Given the description of an element on the screen output the (x, y) to click on. 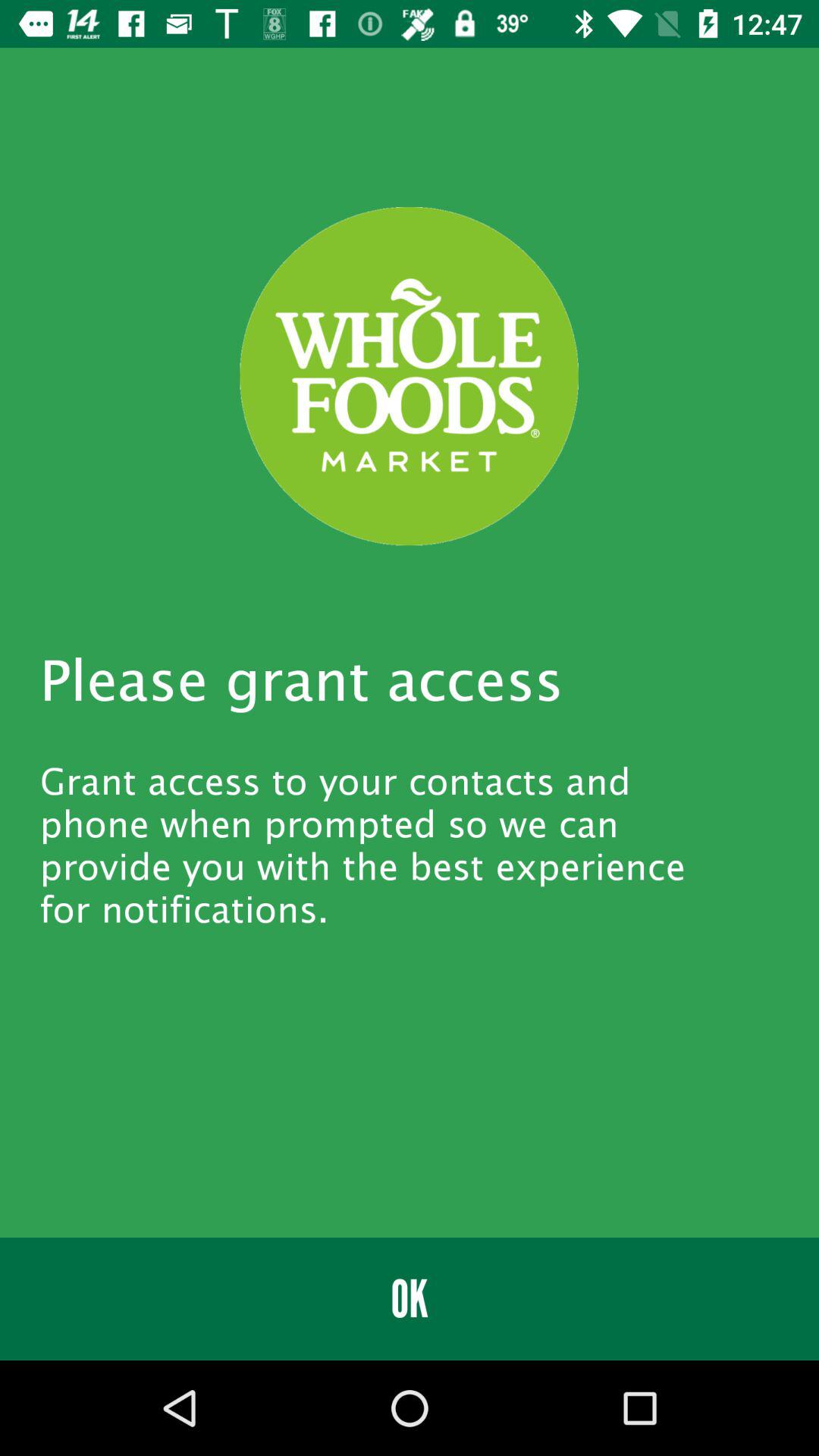
swipe until ok icon (409, 1298)
